Given the description of an element on the screen output the (x, y) to click on. 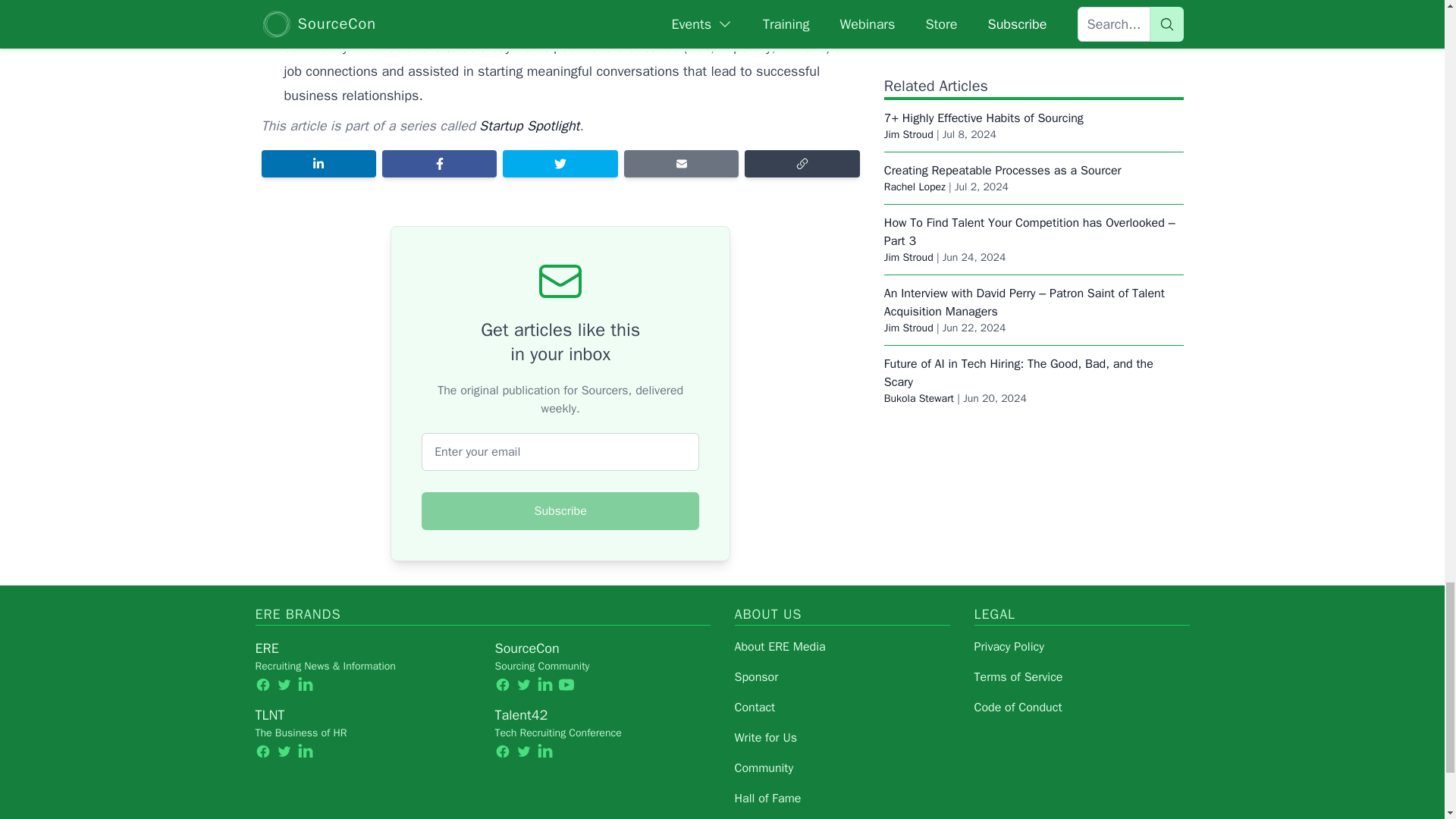
Startup Spotlight (529, 125)
Subscribe (560, 510)
